Given the description of an element on the screen output the (x, y) to click on. 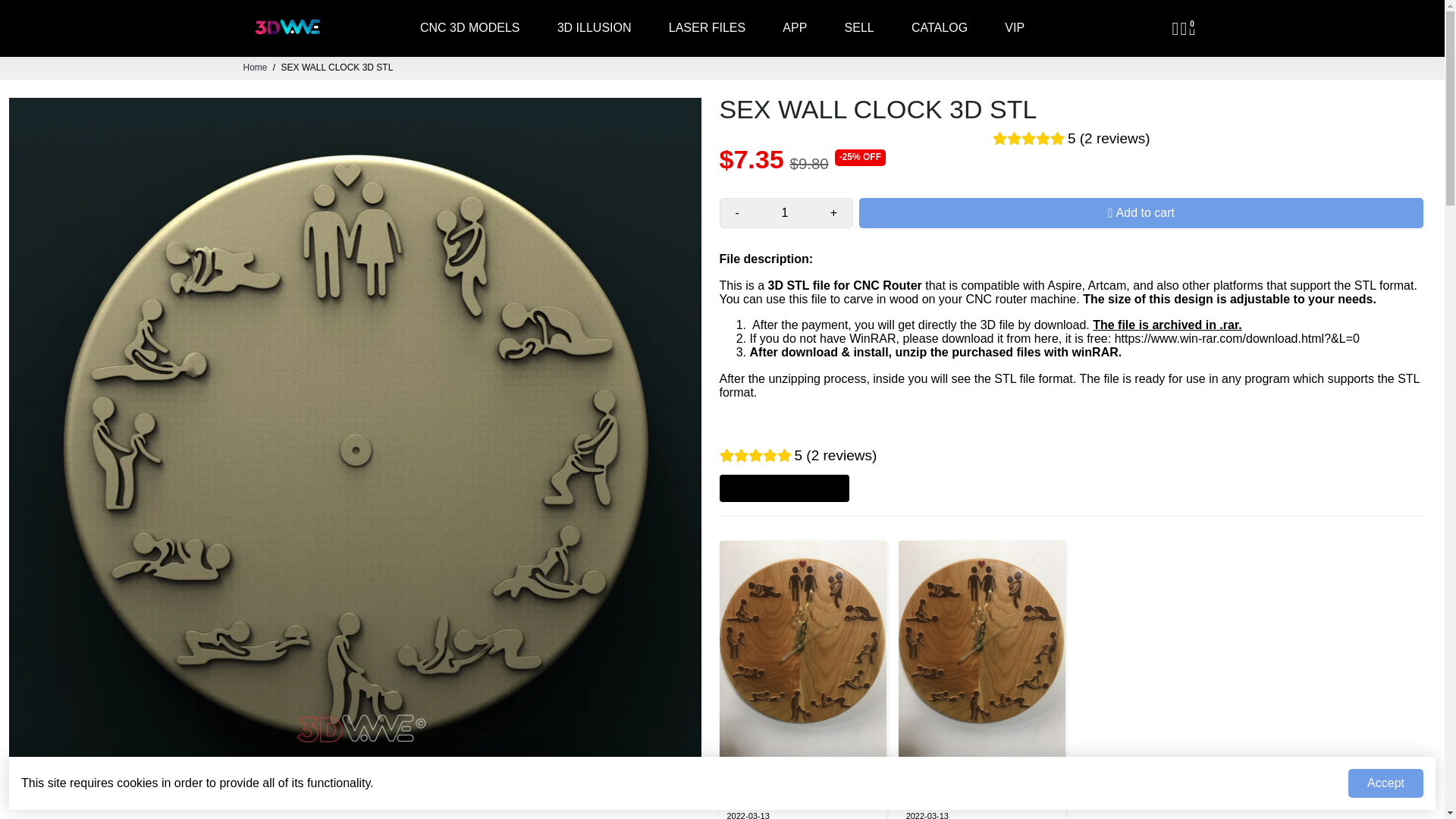
Home (254, 67)
CNC 3D MODELS (469, 28)
1 (784, 213)
